Given the description of an element on the screen output the (x, y) to click on. 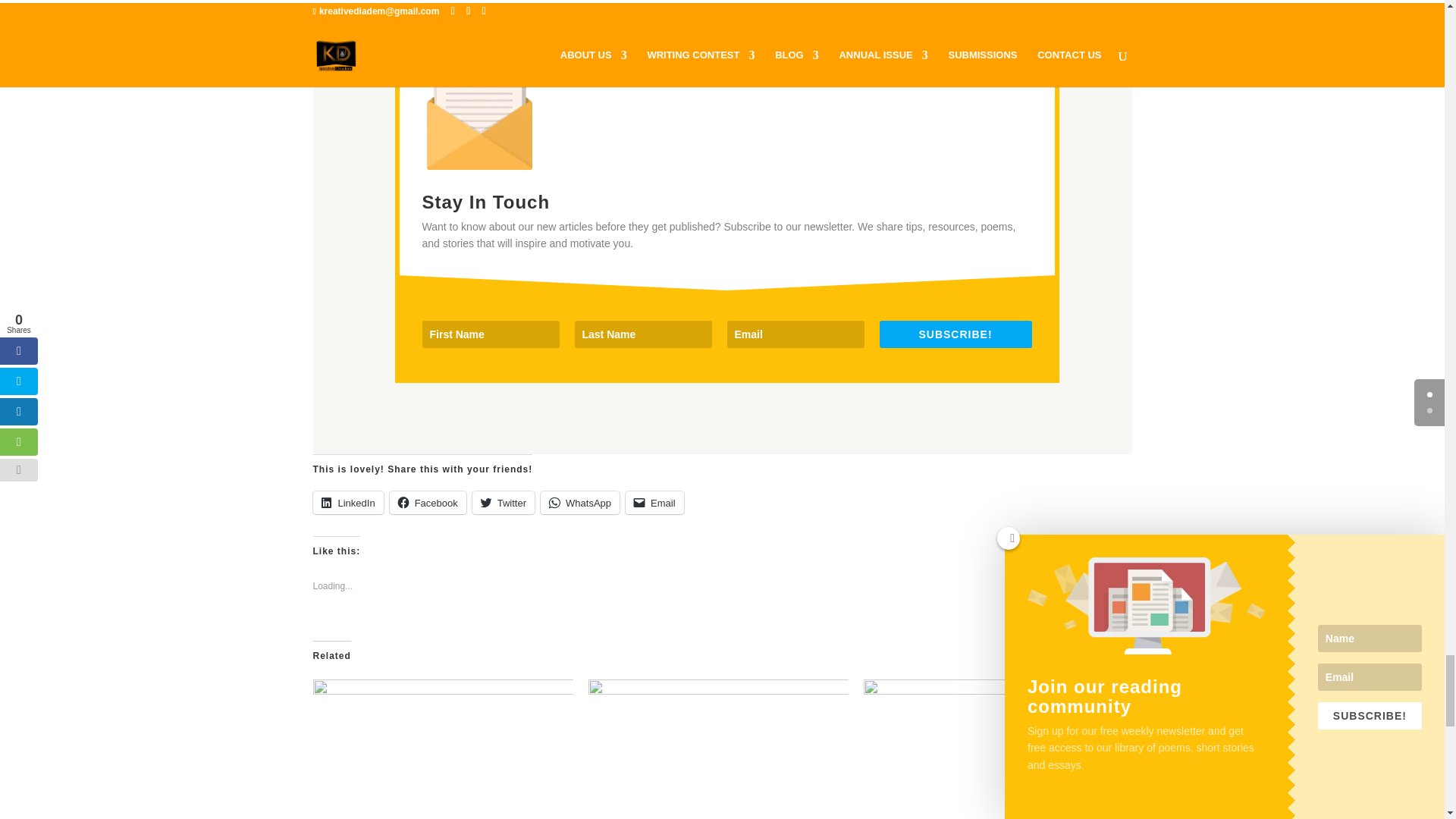
Click to share on Facebook (427, 502)
Click to share on WhatsApp (580, 502)
Click to share on LinkedIn (347, 502)
ROSES BROKE MY FALL by Eze Kenechukwu (718, 748)
Click to email a link to a friend (655, 502)
BETRAYAL by Ken Odenigbo (442, 748)
Click to share on Twitter (502, 502)
